Given the description of an element on the screen output the (x, y) to click on. 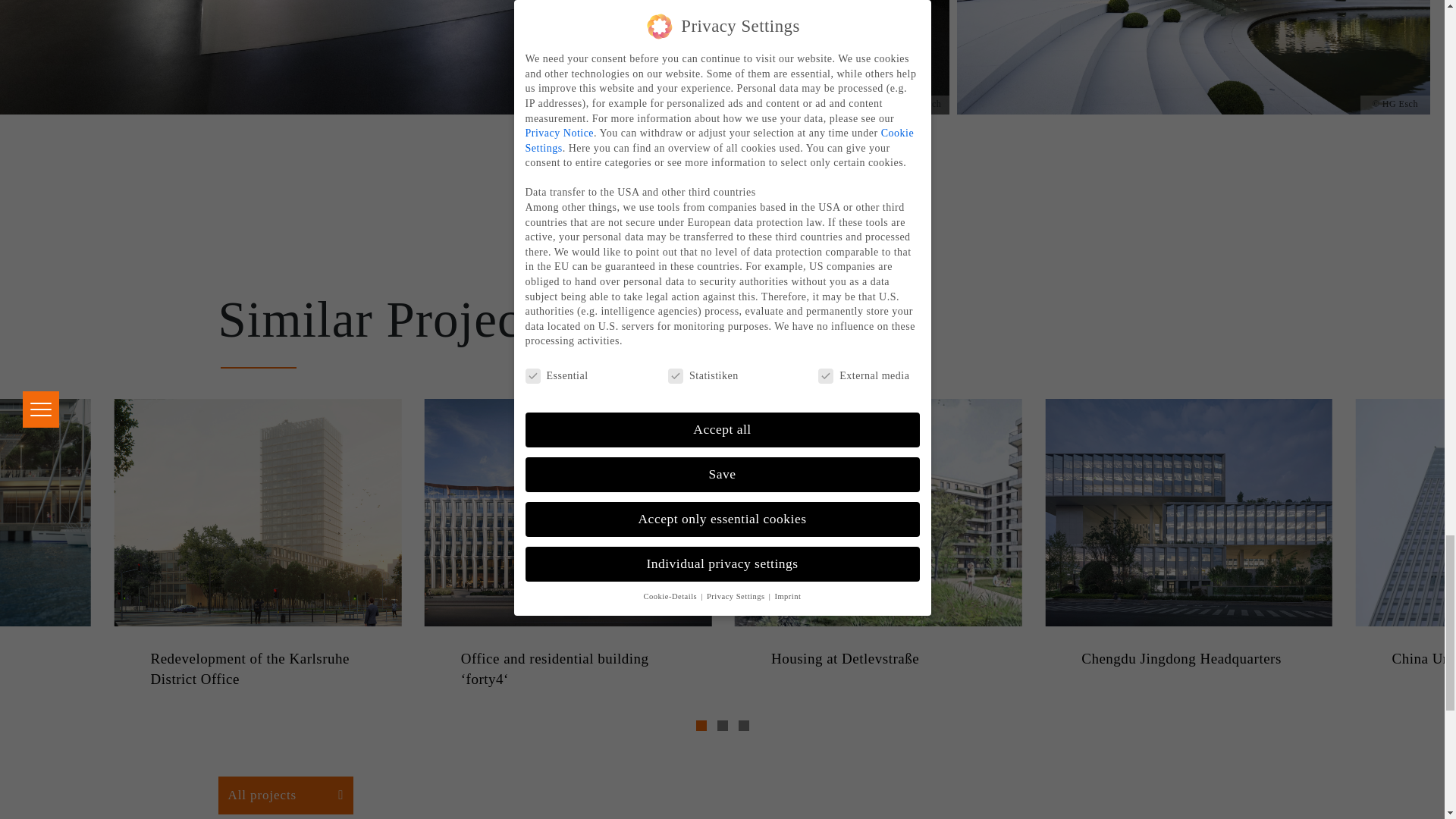
Chengdu Jingdong Headquarters (1188, 659)
Redevelopment of the Karlsruhe District Office (257, 669)
Anse du Portier (45, 659)
